Given the description of an element on the screen output the (x, y) to click on. 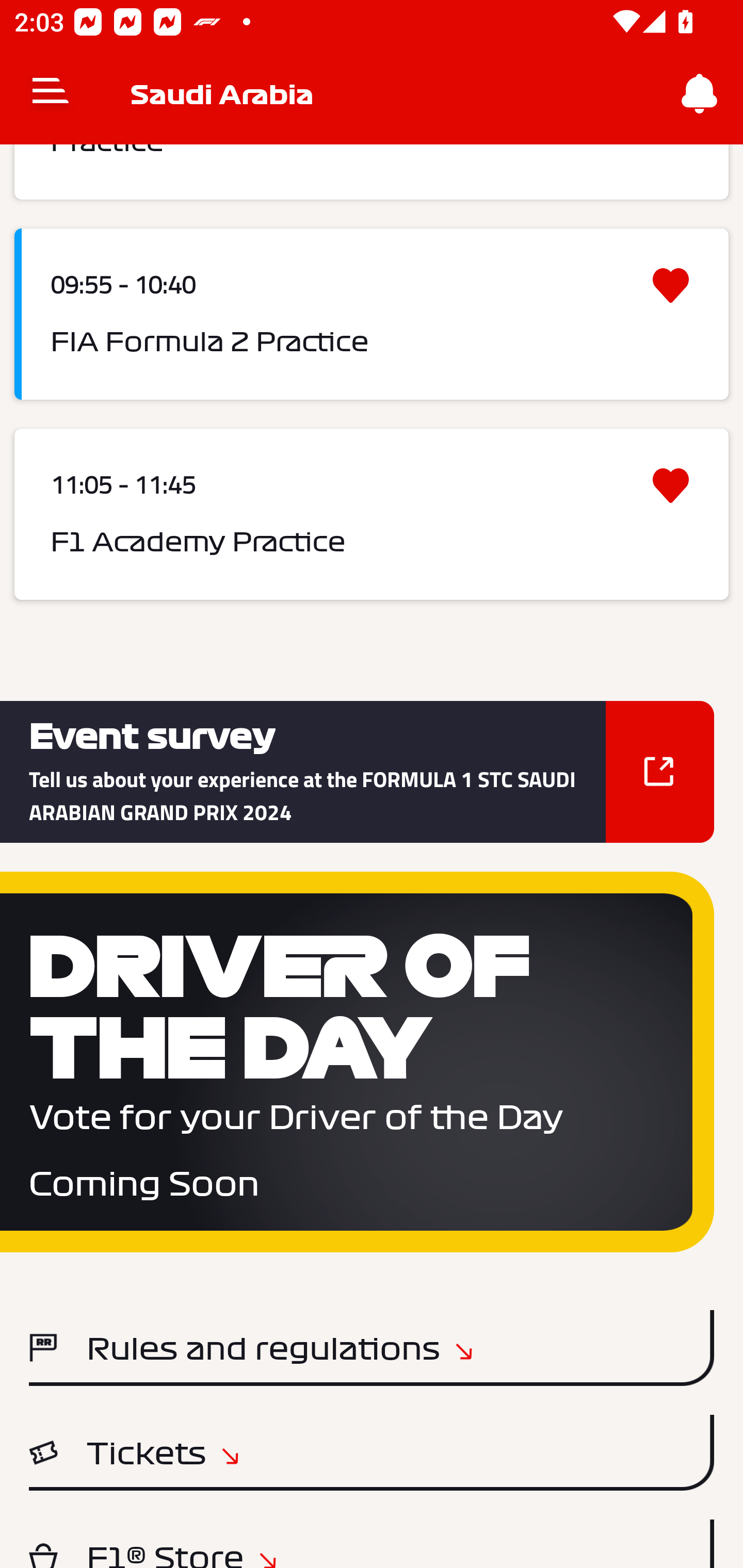
Navigate up (50, 93)
Notifications (699, 93)
09:55 - 10:40 FIA Formula 2 Practice (371, 313)
11:05 - 11:45 F1 Academy Practice (371, 514)
Rules and regulations (371, 1348)
Tickets (371, 1452)
F1® Store (371, 1543)
